Given the description of an element on the screen output the (x, y) to click on. 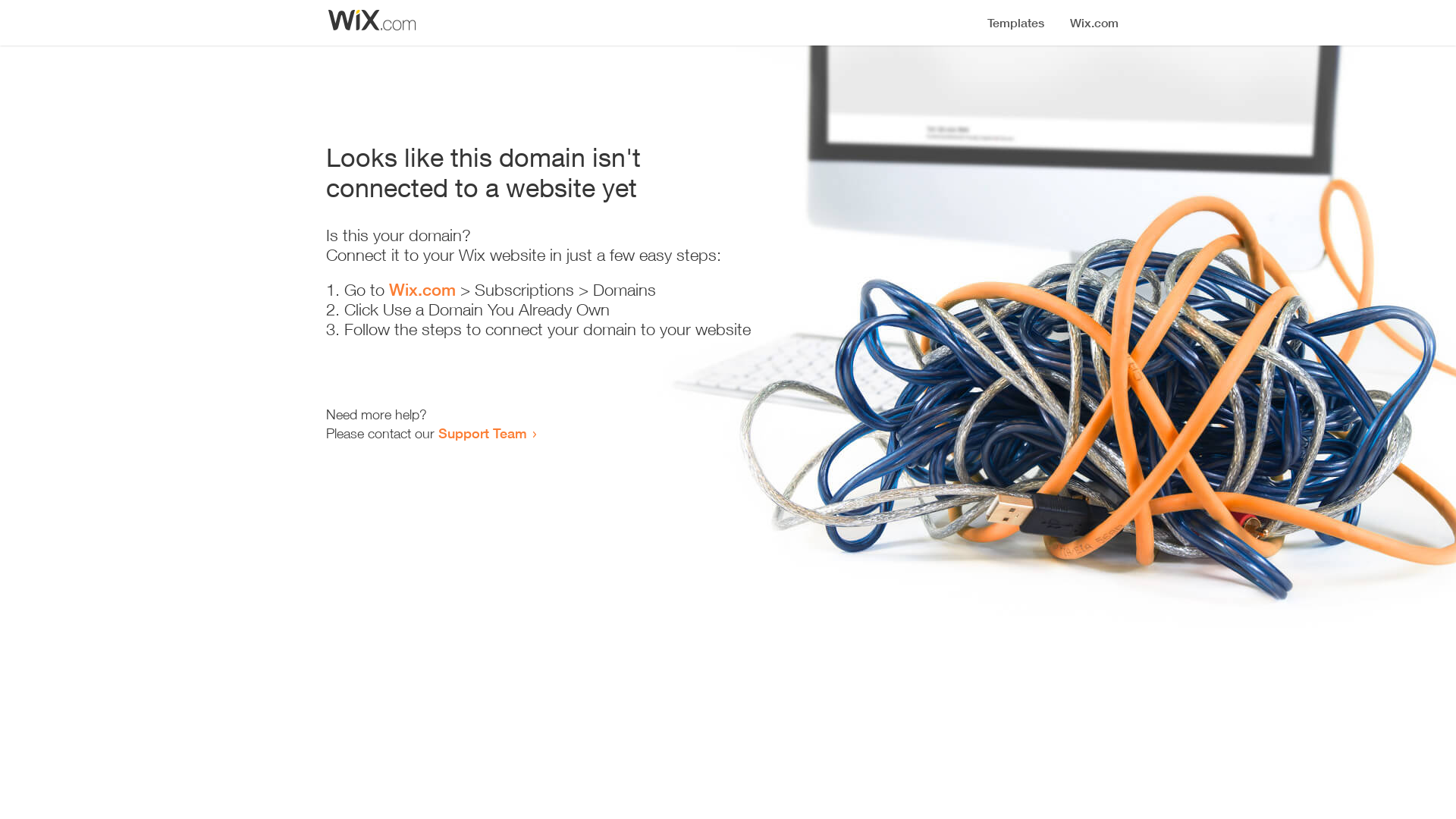
Wix.com Element type: text (422, 289)
Support Team Element type: text (482, 432)
